Given the description of an element on the screen output the (x, y) to click on. 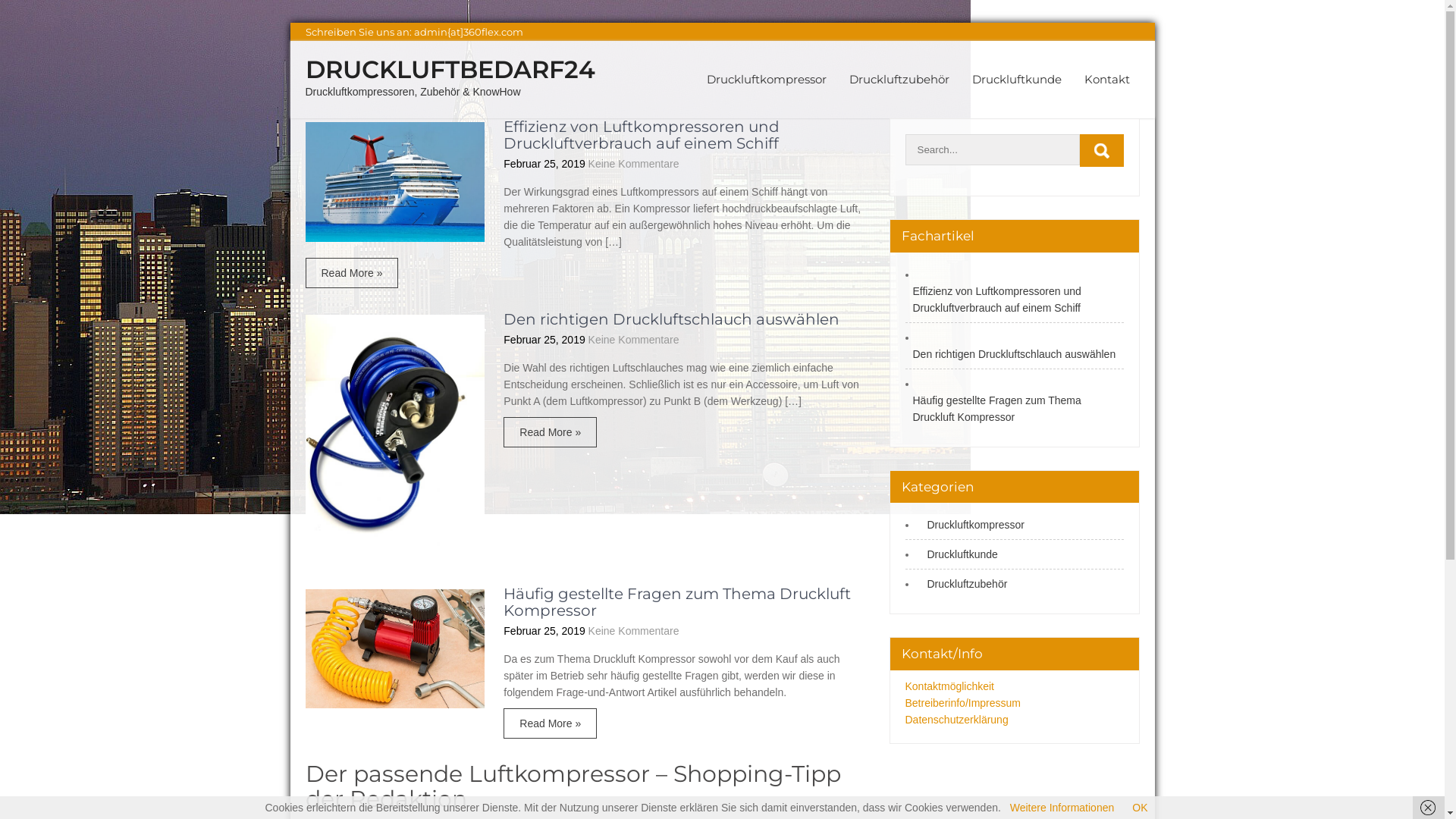
Druckluftkunde Element type: text (958, 554)
Keine Kommentare Element type: text (633, 163)
Kontakt Element type: text (1106, 79)
Keine Kommentare Element type: text (633, 339)
Druckluftkompressor Element type: text (765, 79)
Druckluftkompressor Element type: text (971, 524)
Druckluftkunde Element type: text (1015, 79)
Weitere Informationen Element type: text (1061, 807)
Betreiberinfo/Impressum Element type: text (963, 702)
Search Element type: text (1101, 150)
OK Element type: text (1139, 807)
DRUCKLUFTBEDARF24 Element type: text (449, 69)
Keine Kommentare Element type: text (633, 630)
